Given the description of an element on the screen output the (x, y) to click on. 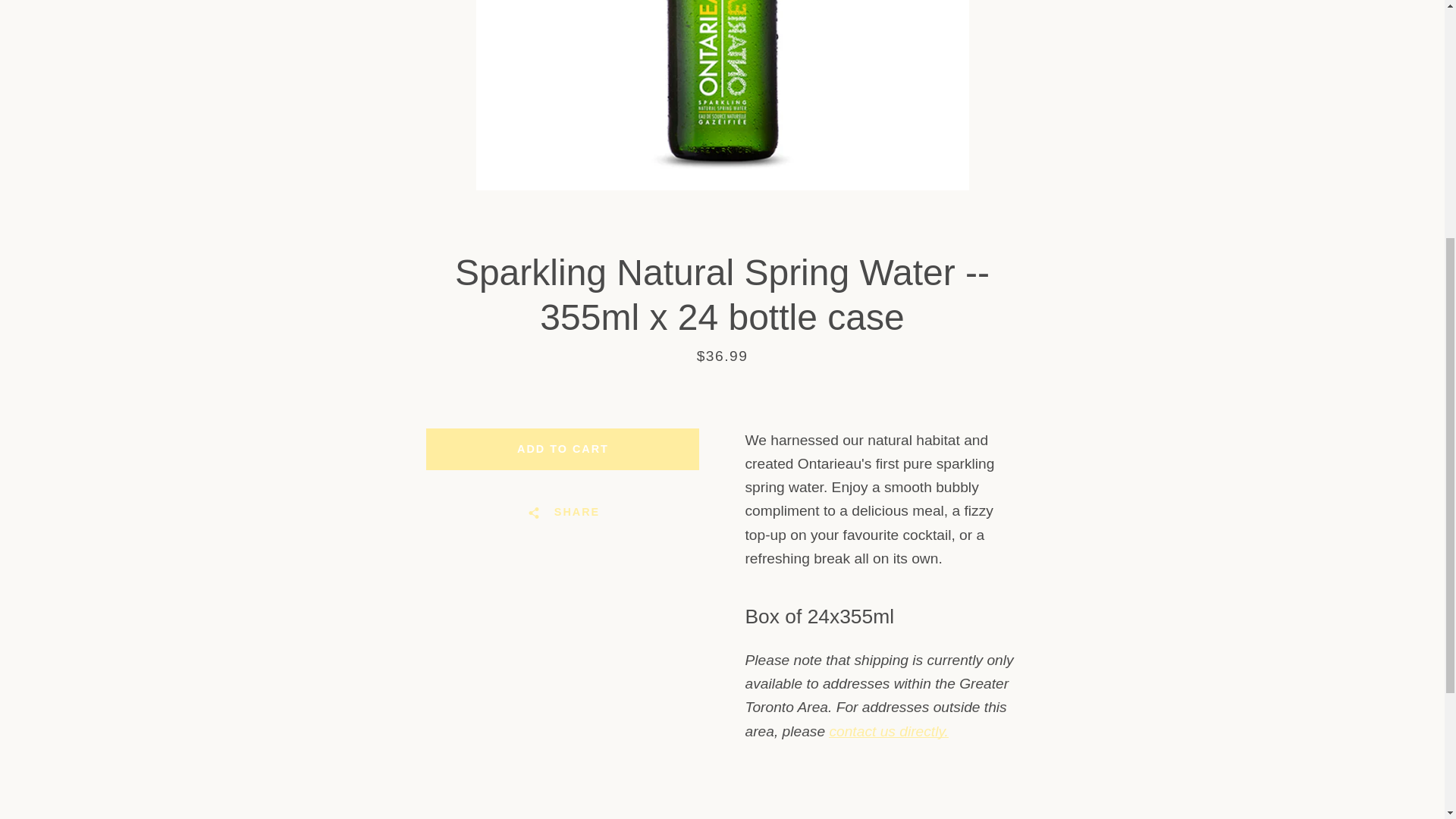
Ok (1038, 290)
Ontarieau on Facebook (372, 367)
Ontarieau on Instagram (426, 367)
Ok (1038, 290)
Ontarieau (1007, 368)
Facebook (372, 367)
SEARCH (397, 247)
Ontarieau on Twitter (400, 367)
SHARE (562, 512)
Twitter (400, 367)
contact us directly. (887, 731)
Instagram (426, 367)
ADD TO CART (562, 449)
